Given the description of an element on the screen output the (x, y) to click on. 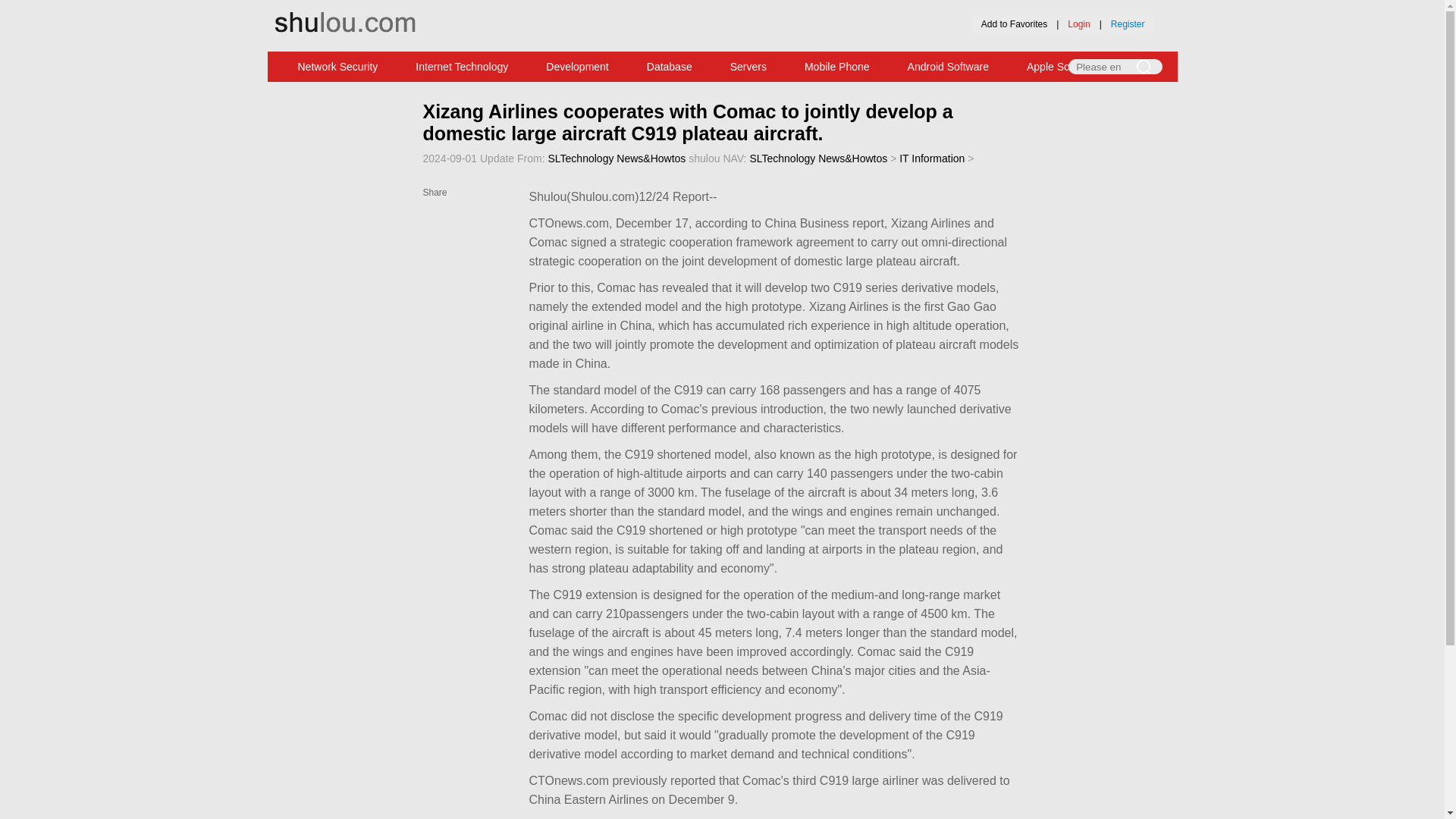
Android Software (947, 66)
Add to Favorites (1013, 23)
Apple Software (1062, 66)
Servers (748, 66)
Internet Technology (461, 66)
Apple Software (1062, 66)
About us (678, 9)
Development (577, 66)
Internet Technology (461, 66)
IT Information (931, 158)
